Given the description of an element on the screen output the (x, y) to click on. 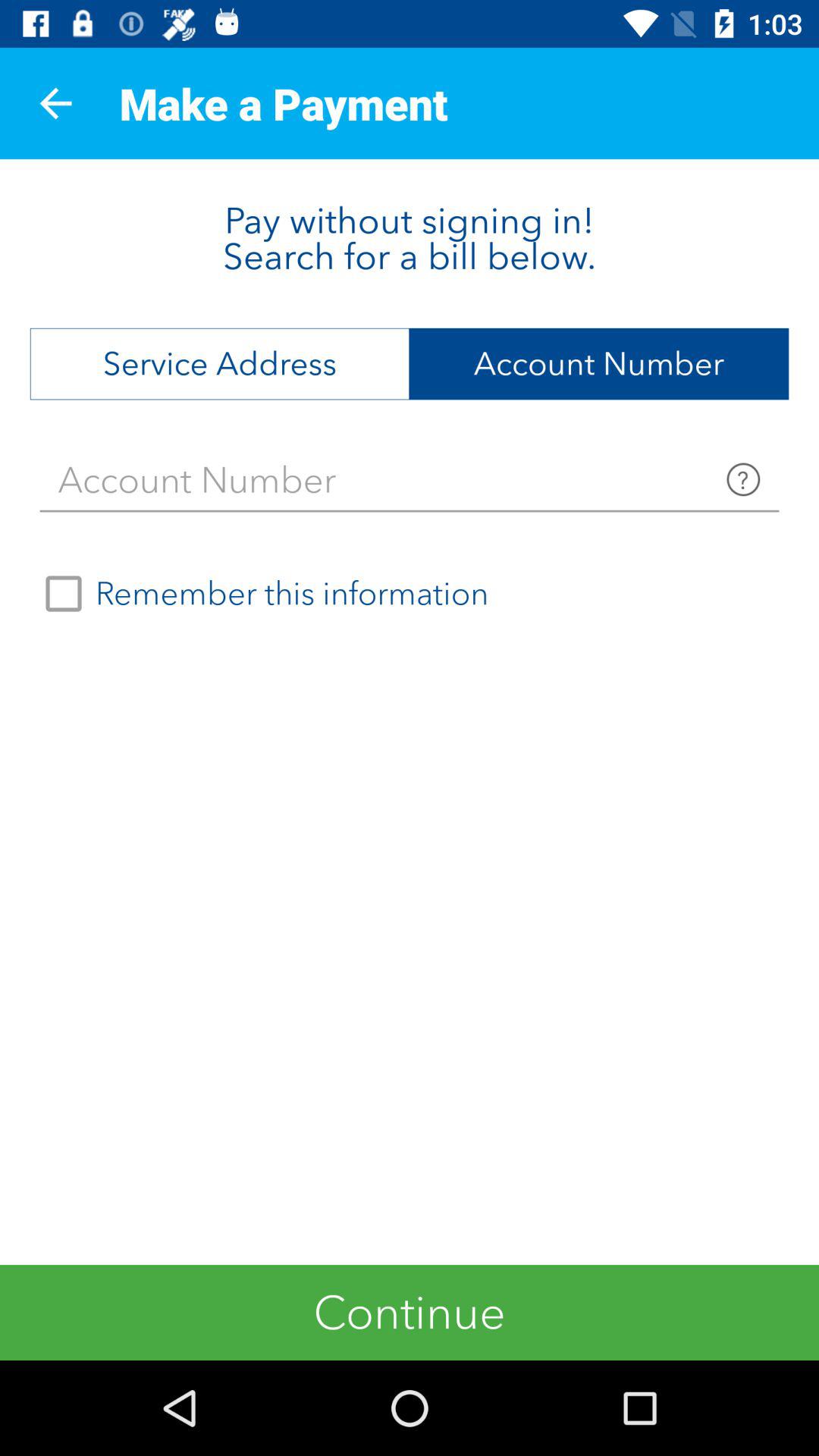
press icon next to the service address (598, 363)
